Given the description of an element on the screen output the (x, y) to click on. 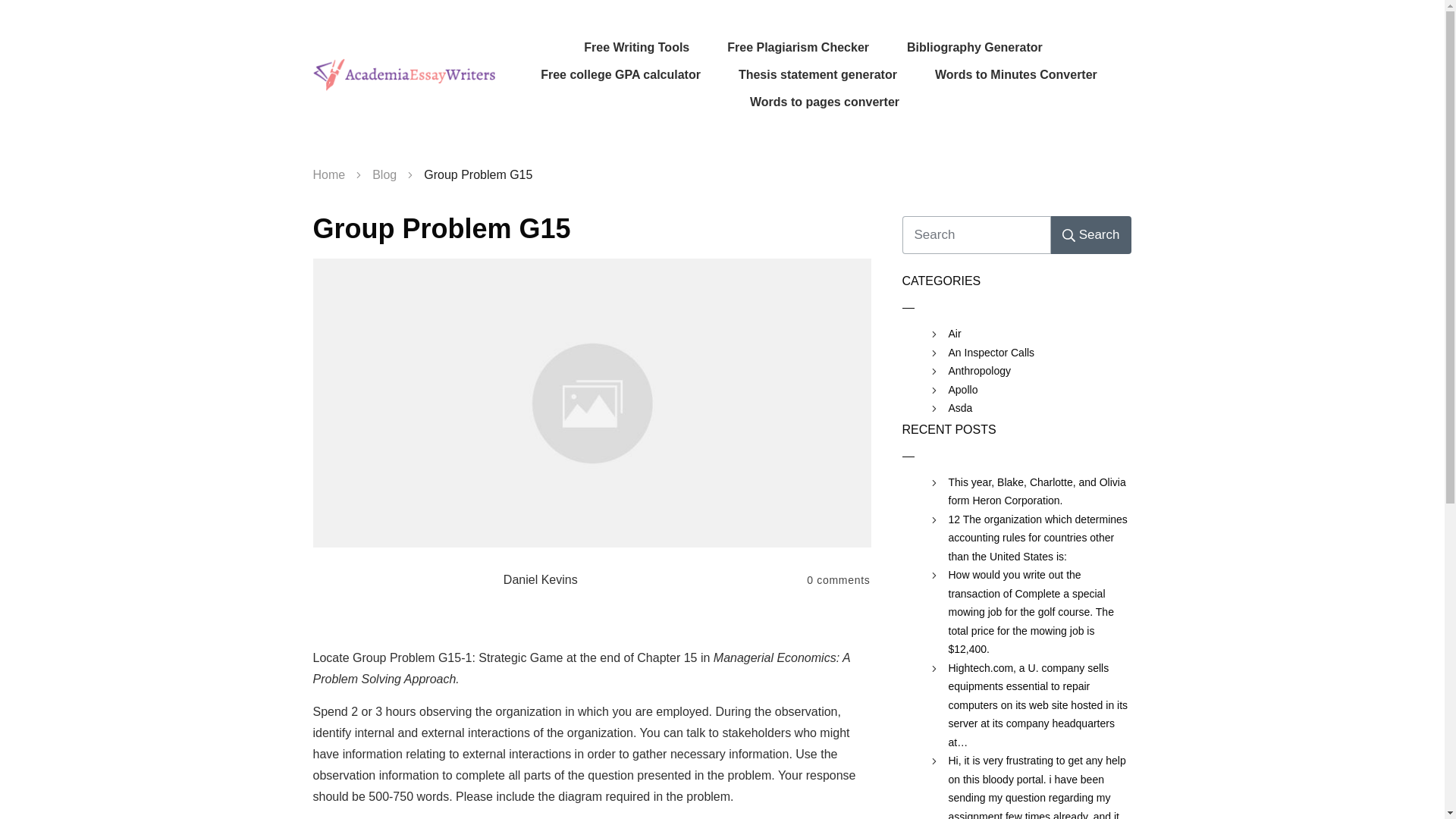
Group Problem G15 (441, 228)
Bibliography Generator (974, 47)
Home (329, 175)
Blog (384, 175)
Asda (959, 407)
Anthropology (978, 370)
Words to Minutes Converter (1015, 74)
